Given the description of an element on the screen output the (x, y) to click on. 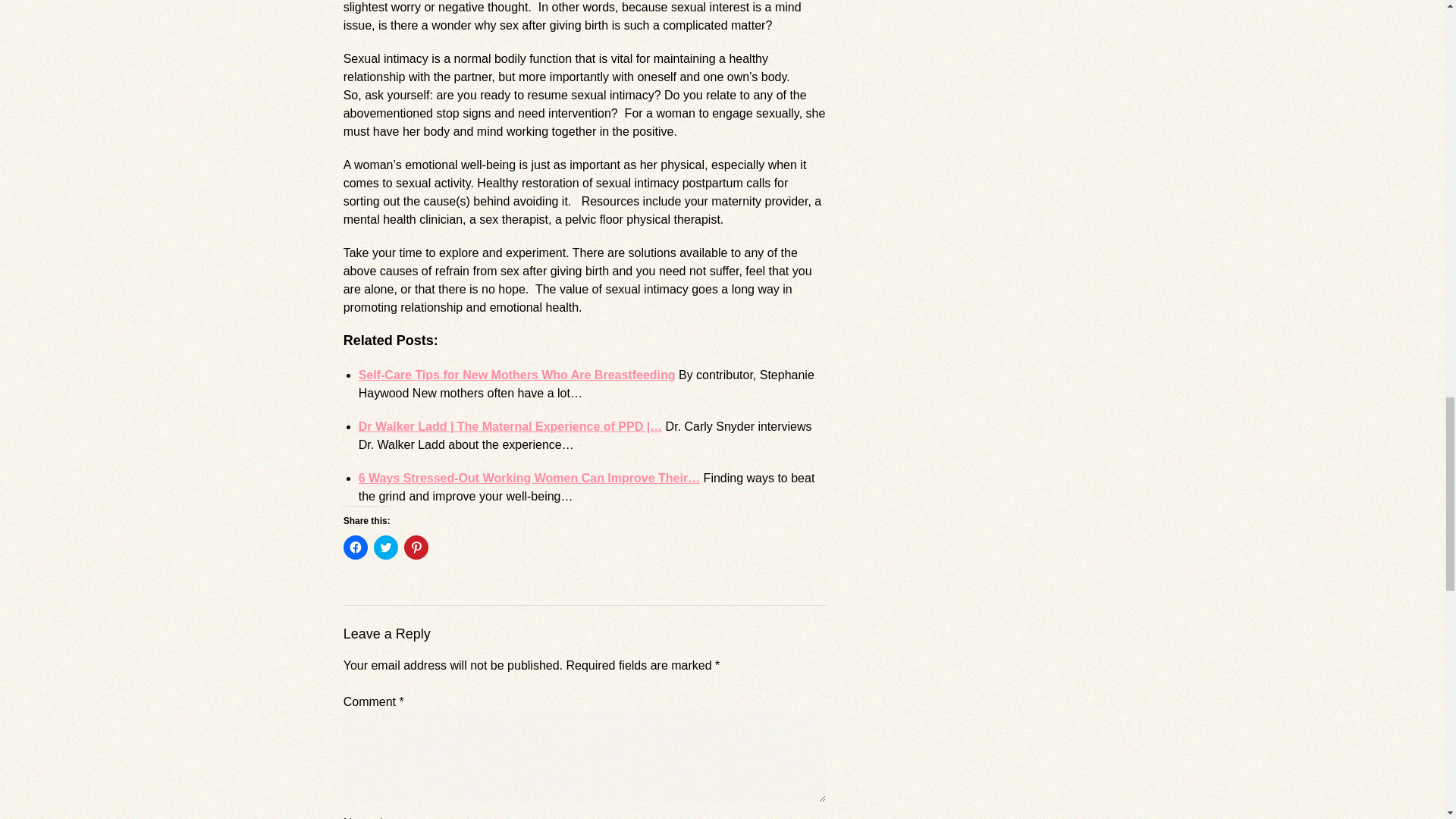
Click to share on Twitter (385, 547)
Self-Care Tips for New Mothers Who Are Breastfeeding (516, 374)
Click to share on Facebook (355, 547)
Click to share on Pinterest (416, 547)
